Given the description of an element on the screen output the (x, y) to click on. 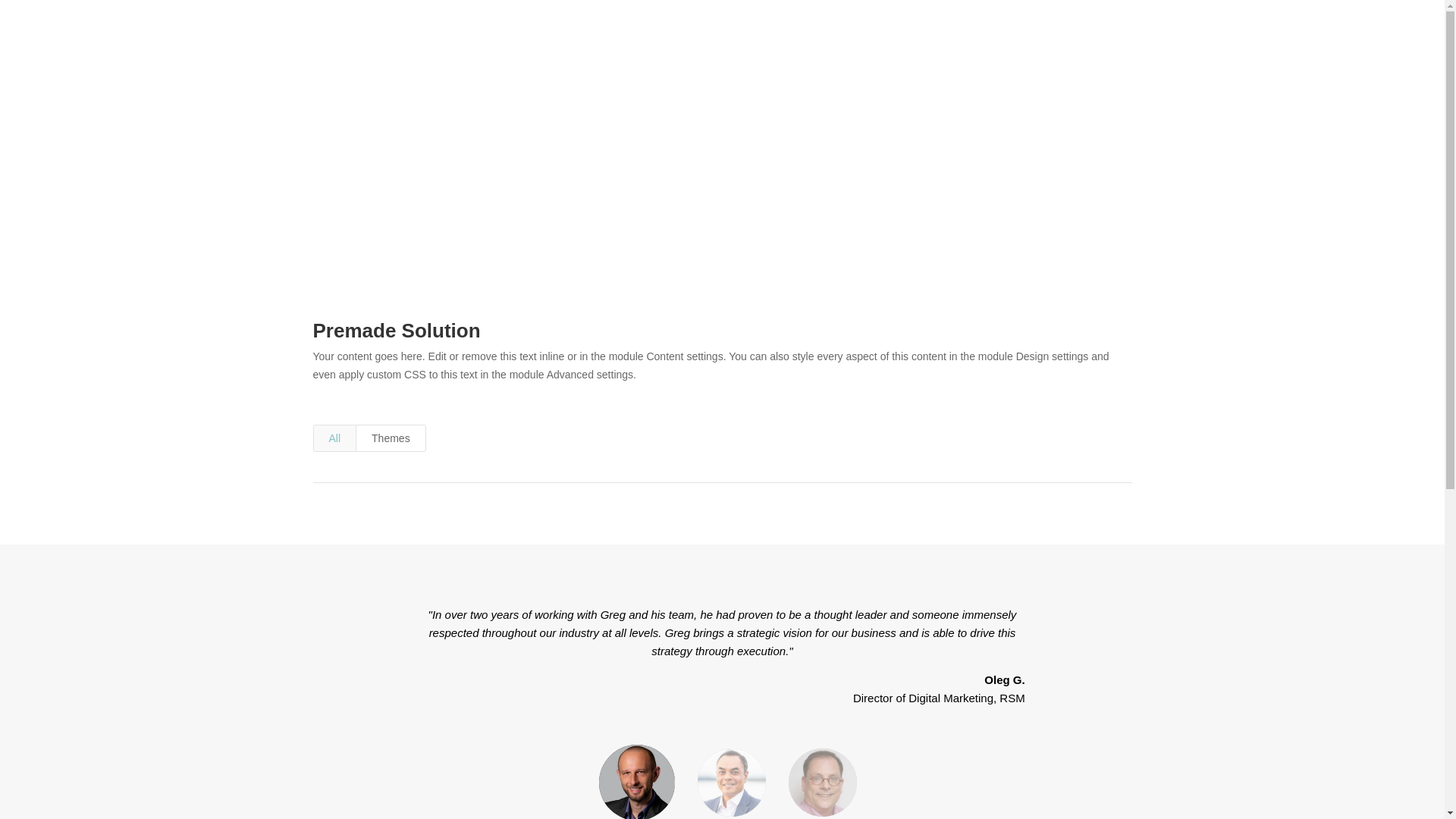
Services (906, 42)
About (839, 42)
Themes (390, 438)
Our Projects (990, 42)
Home (787, 42)
Contact (1110, 42)
All (334, 438)
